Given the description of an element on the screen output the (x, y) to click on. 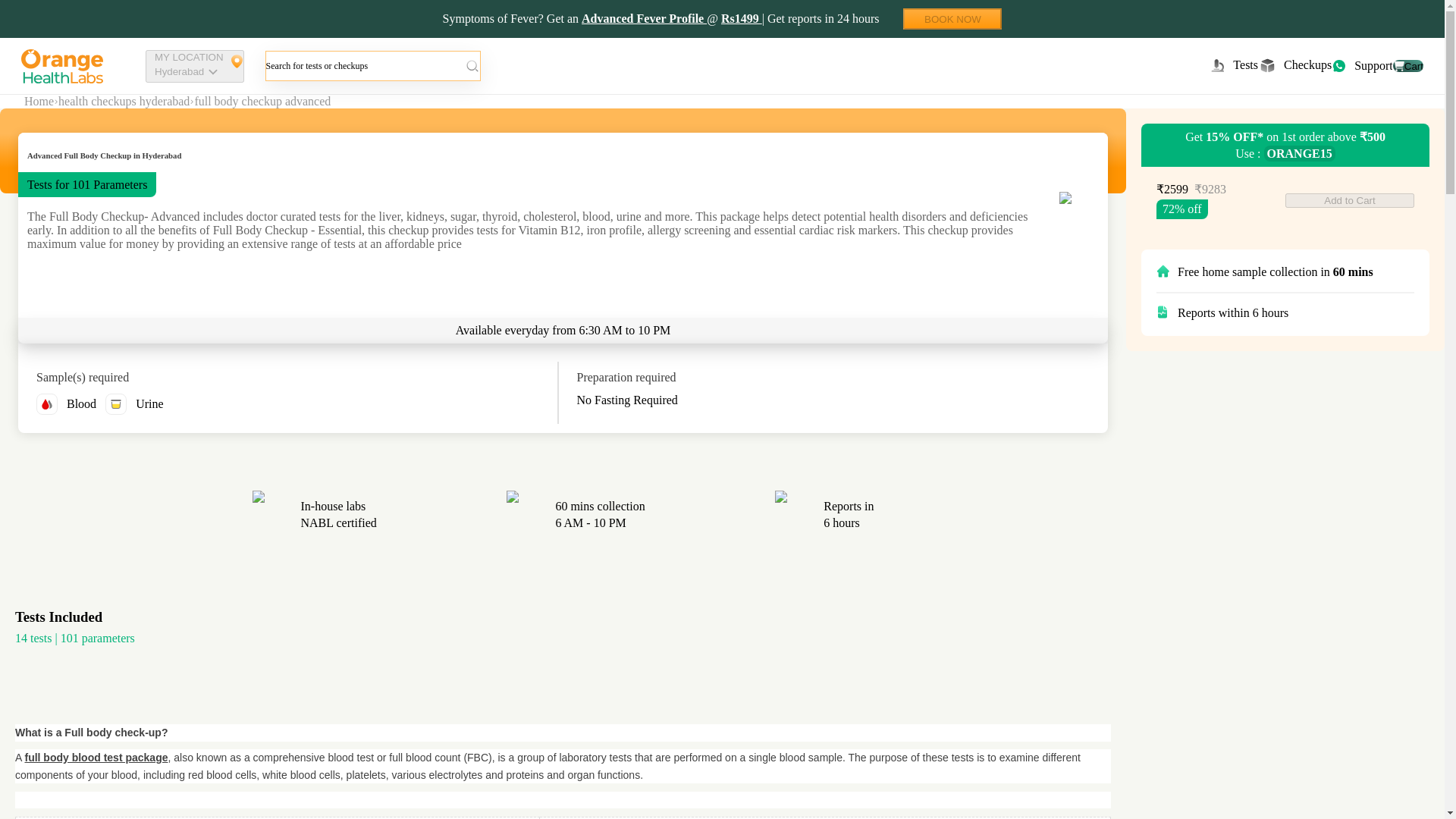
 Tests (1232, 65)
health checkups hyderabad (123, 101)
 Checkups (194, 65)
full body blood test package (1294, 65)
Home (95, 757)
Support (38, 101)
Cart (1362, 65)
BOOK NOW (1408, 65)
Add to Cart (951, 18)
